Given the description of an element on the screen output the (x, y) to click on. 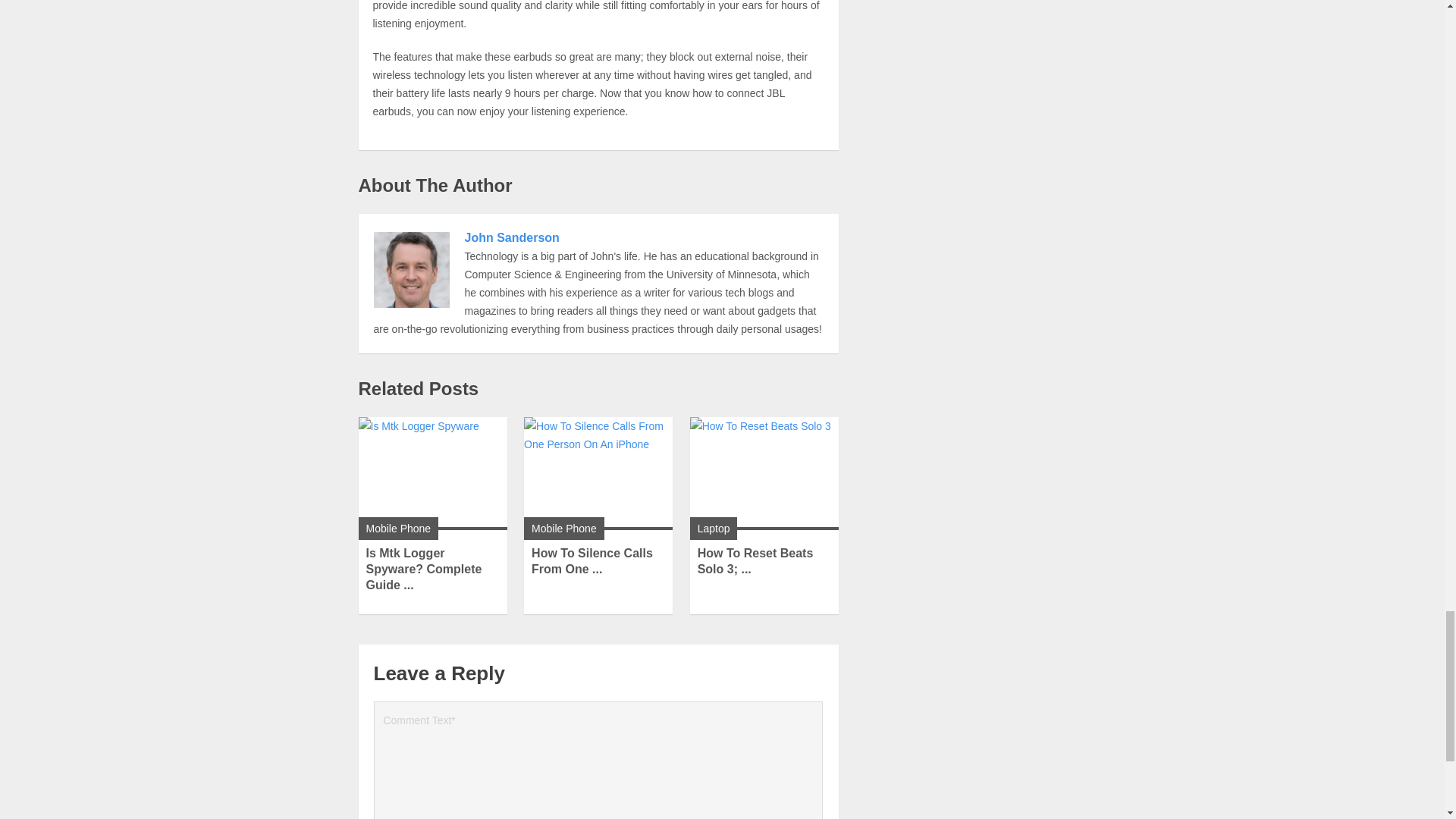
Is Mtk Logger Spyware? Complete Guide ... (423, 569)
How To Reset Beats Solo 3; Beats Maintenance Guide (755, 561)
View all posts in Mobile Phone (563, 528)
John Sanderson (511, 237)
Mobile Phone (397, 528)
How To Reset Beats Solo 3; ... (755, 561)
View all posts in Mobile Phone (397, 528)
Is Mtk Logger Spyware? Complete Guide on All Things Malware (432, 472)
How To Silence Calls From One Person On An iPhone (591, 561)
How To Silence Calls From One ... (591, 561)
